Given the description of an element on the screen output the (x, y) to click on. 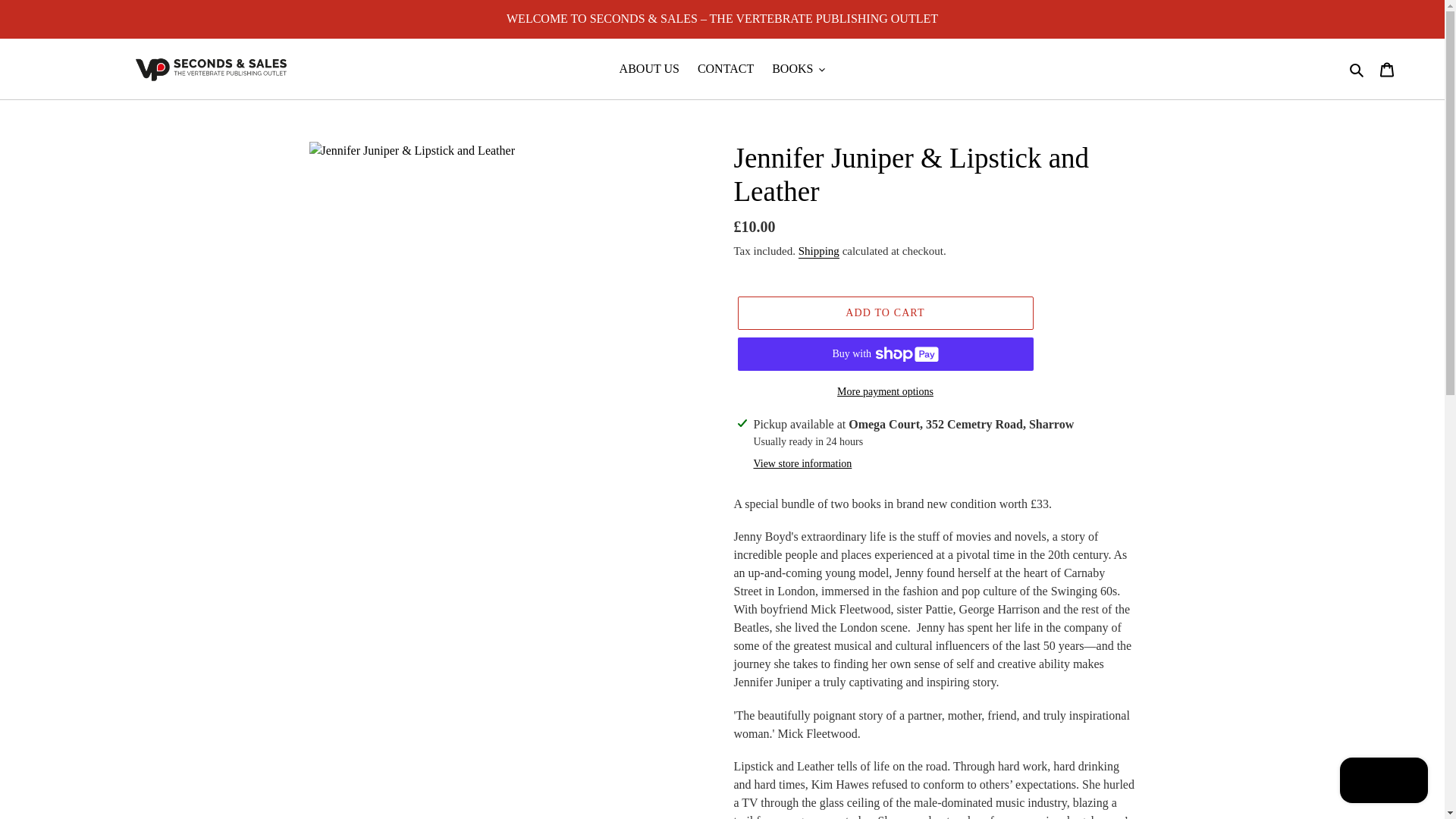
Cart (1387, 68)
BOOKS (798, 68)
ABOUT US (649, 68)
Shopify online store chat (1383, 781)
Search (1357, 68)
CONTACT (725, 68)
